Given the description of an element on the screen output the (x, y) to click on. 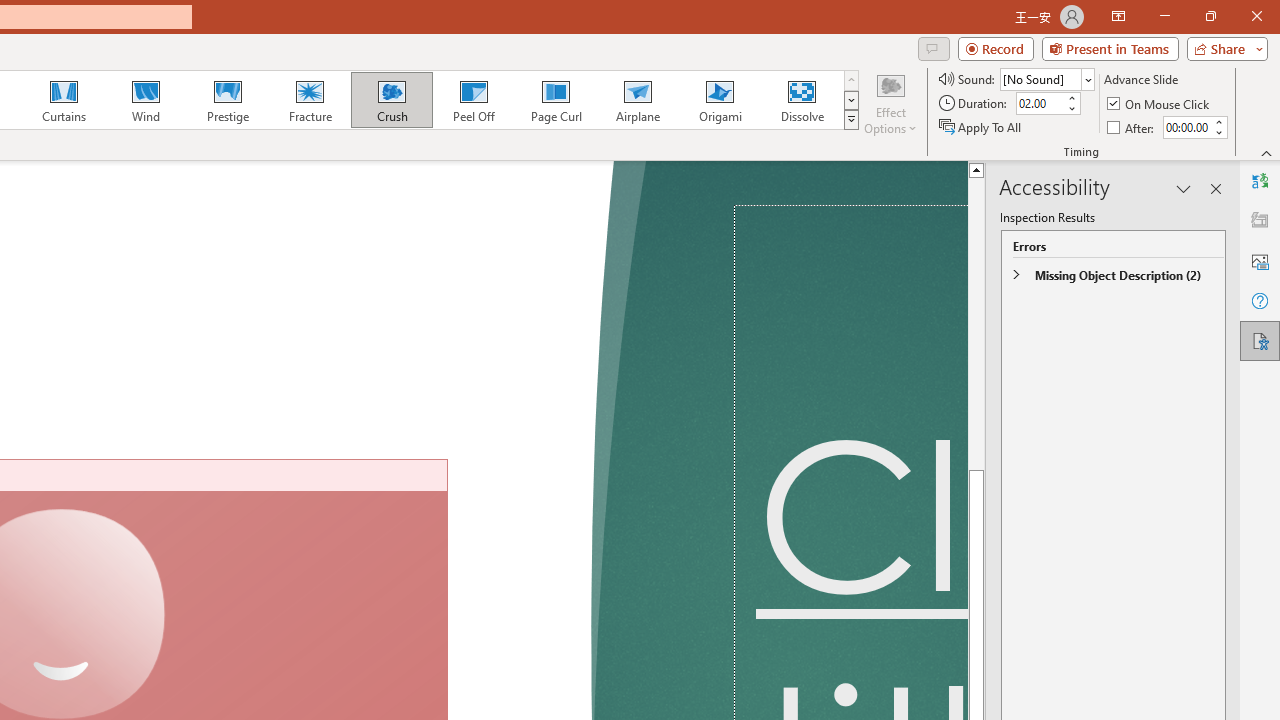
Wind (145, 100)
Apply To All (981, 126)
Curtains (63, 100)
